Given the description of an element on the screen output the (x, y) to click on. 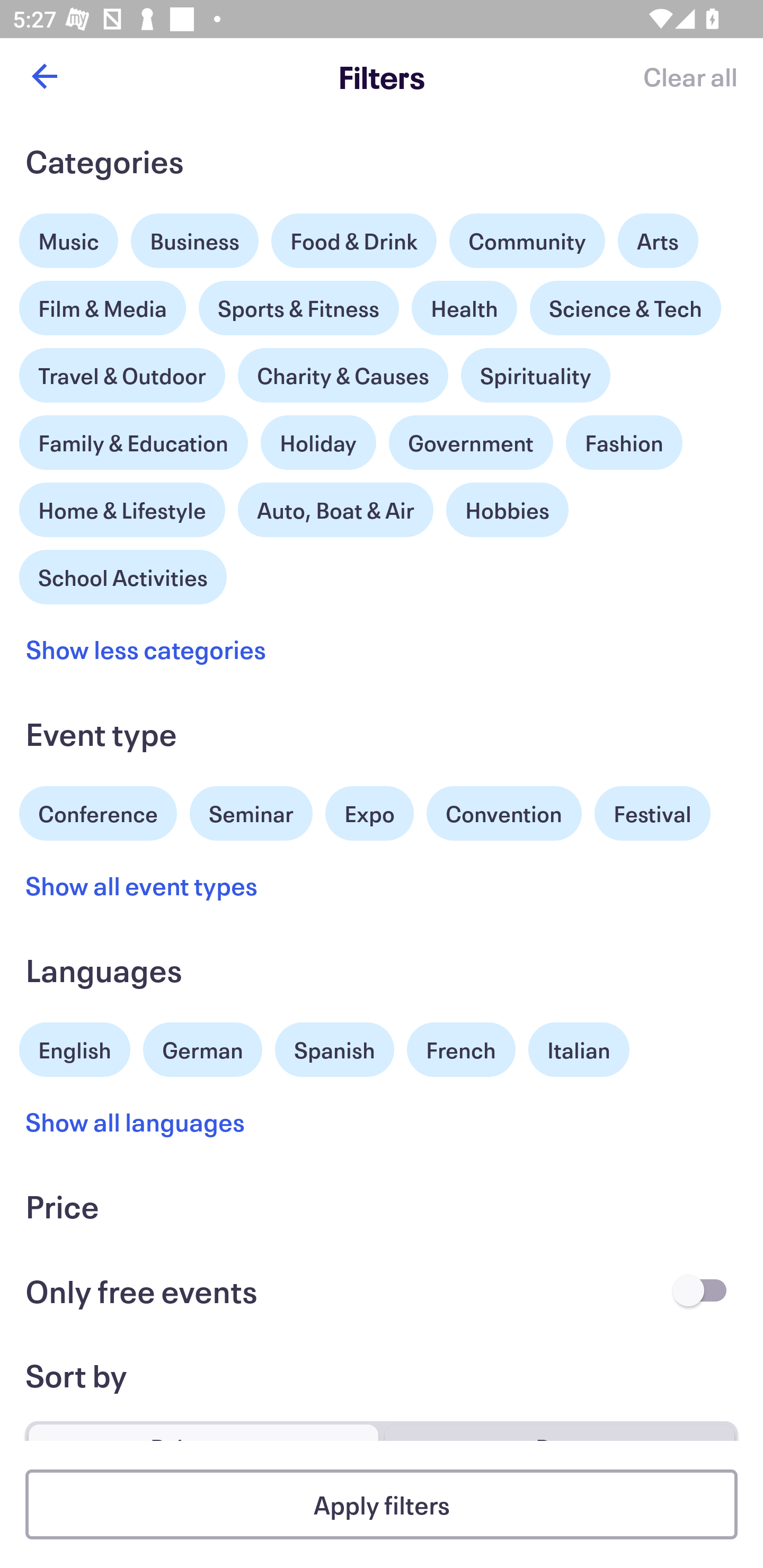
Back button (44, 75)
Clear all (690, 75)
Music (68, 235)
Business (194, 240)
Food & Drink (353, 240)
Community (527, 240)
Arts (658, 235)
Film & Media (102, 303)
Sports & Fitness (298, 307)
Health (464, 307)
Science & Tech (625, 307)
Travel & Outdoor (122, 370)
Charity & Causes (343, 375)
Spirituality (535, 375)
Family & Education (133, 442)
Holiday (318, 437)
Government (471, 442)
Fashion (624, 442)
Home & Lifestyle (122, 505)
Auto, Boat & Air (335, 509)
Hobbies (507, 509)
School Activities (122, 575)
Show less categories (145, 648)
Conference (98, 811)
Seminar (250, 813)
Expo (369, 813)
Convention (503, 813)
Festival (652, 813)
Show all event types (141, 884)
English (74, 1047)
German (202, 1047)
Spanish (334, 1049)
French (460, 1049)
Italian (578, 1049)
Show all languages (135, 1121)
Apply filters (381, 1504)
